Given the description of an element on the screen output the (x, y) to click on. 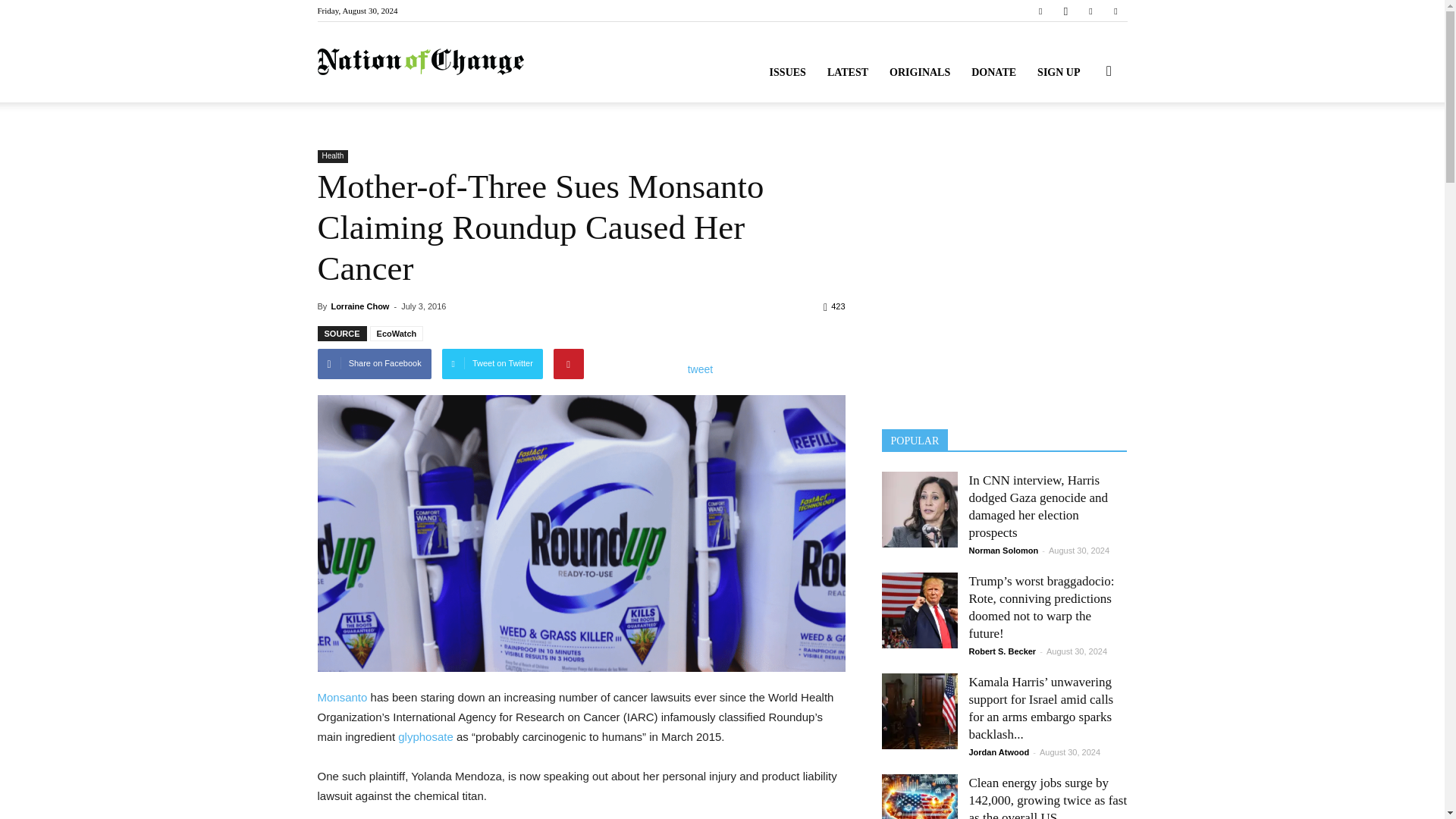
Instagram (1065, 10)
Facebook (1040, 10)
NationofChange (419, 61)
Twitter (1090, 10)
ISSUES (787, 72)
Youtube (1114, 10)
